Given the description of an element on the screen output the (x, y) to click on. 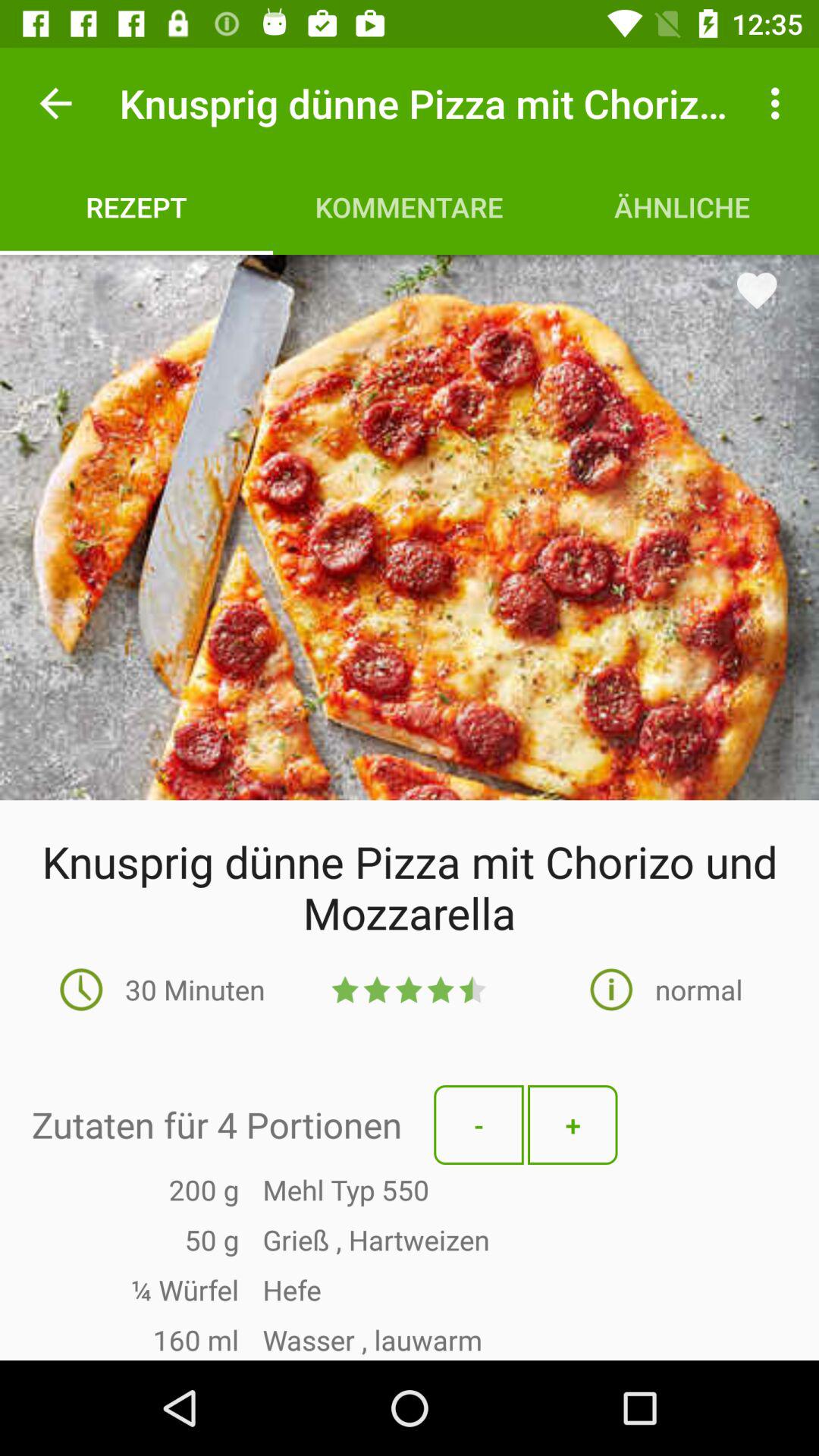
launch the item above the rezept icon (55, 103)
